Given the description of an element on the screen output the (x, y) to click on. 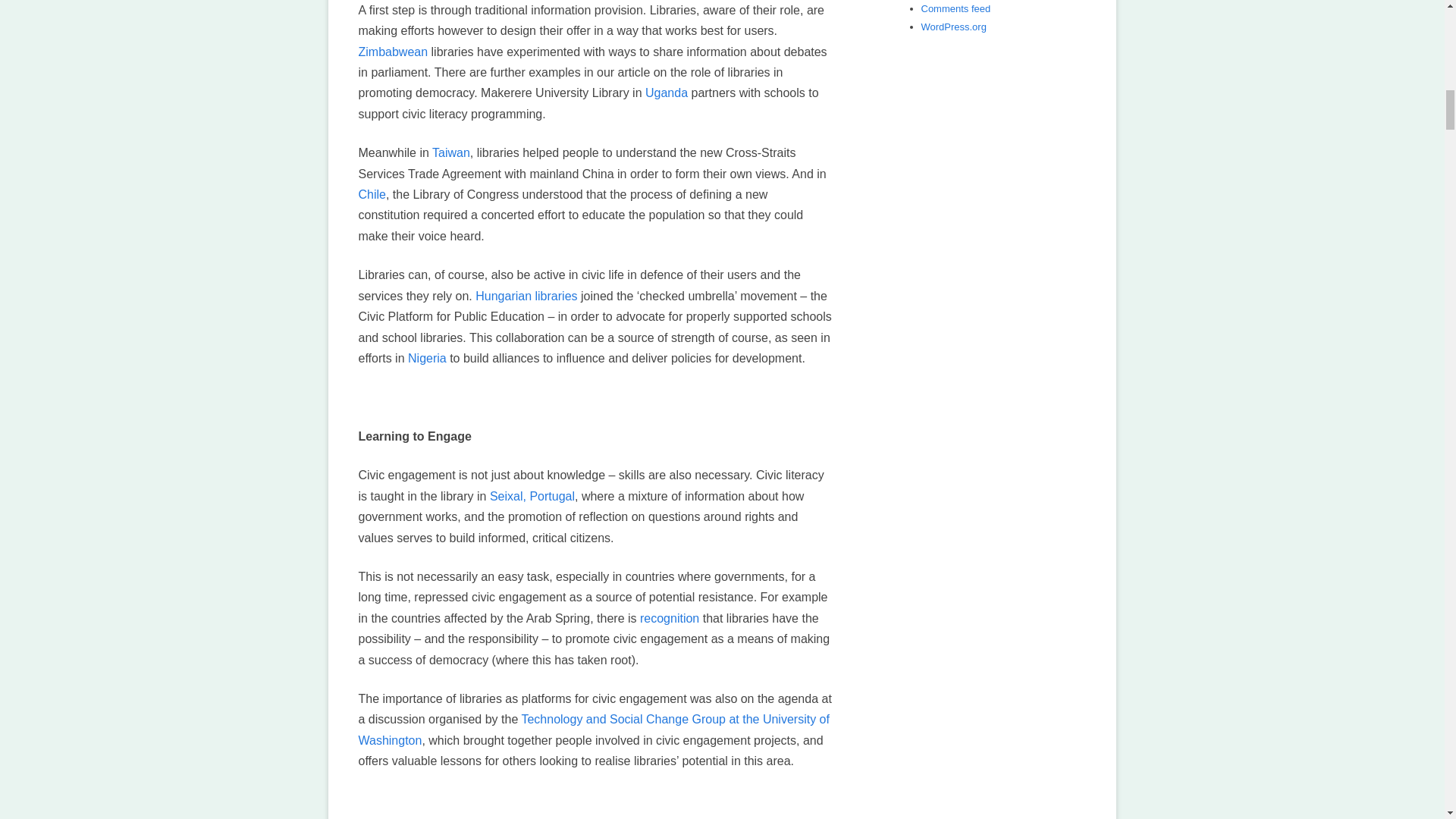
Chile (371, 194)
Zimbabwean (393, 51)
recognition (669, 617)
Nigeria (426, 358)
Hungarian libraries (526, 295)
Seixal, Portugal (532, 495)
Uganda (666, 92)
Taiwan (451, 152)
